Given the description of an element on the screen output the (x, y) to click on. 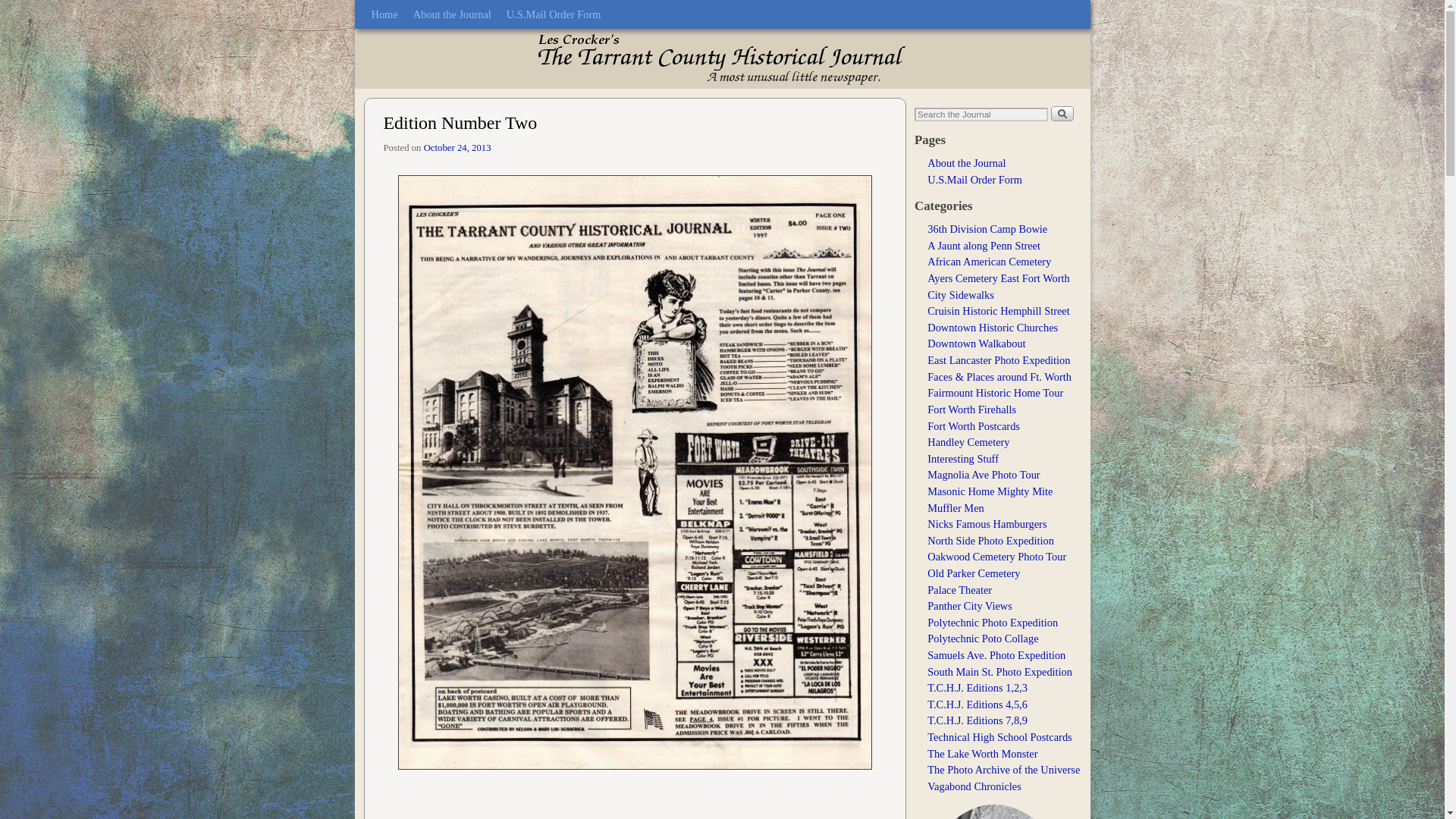
October 24, 2013 (457, 147)
About the Journal (966, 162)
Skip to secondary content (401, 6)
U.S.Mail Order Form (974, 179)
Edition Number Two (460, 122)
U.S.Mail Order Form (553, 14)
12:21 pm (457, 147)
About the Journal (452, 14)
Skip to primary content (398, 6)
The Tarrant County Historical Journal (722, 58)
